Given the description of an element on the screen output the (x, y) to click on. 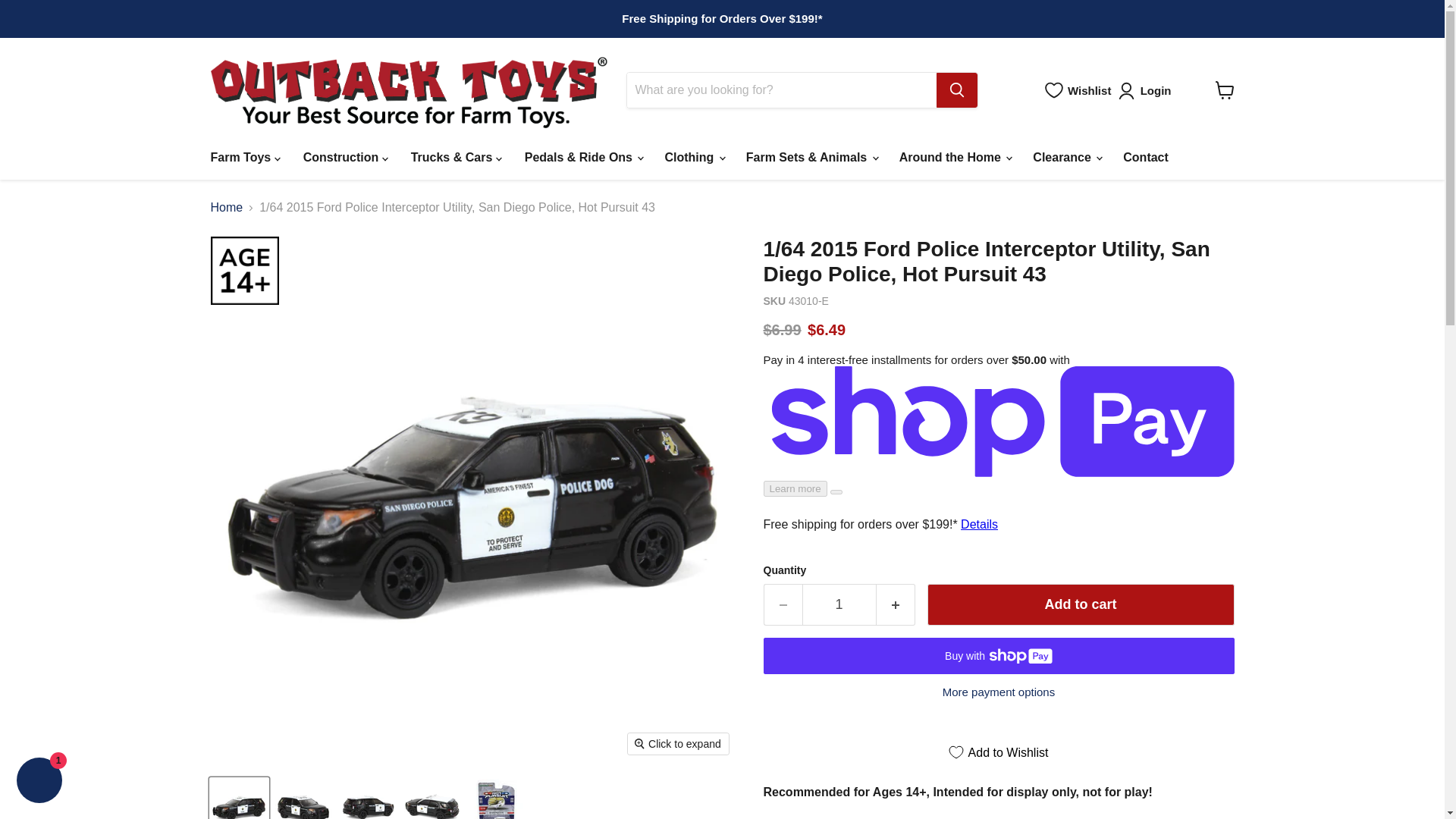
Login (1147, 90)
Shopify online store chat (38, 781)
View cart (1224, 90)
1 (839, 604)
Wishlist (1077, 89)
